Given the description of an element on the screen output the (x, y) to click on. 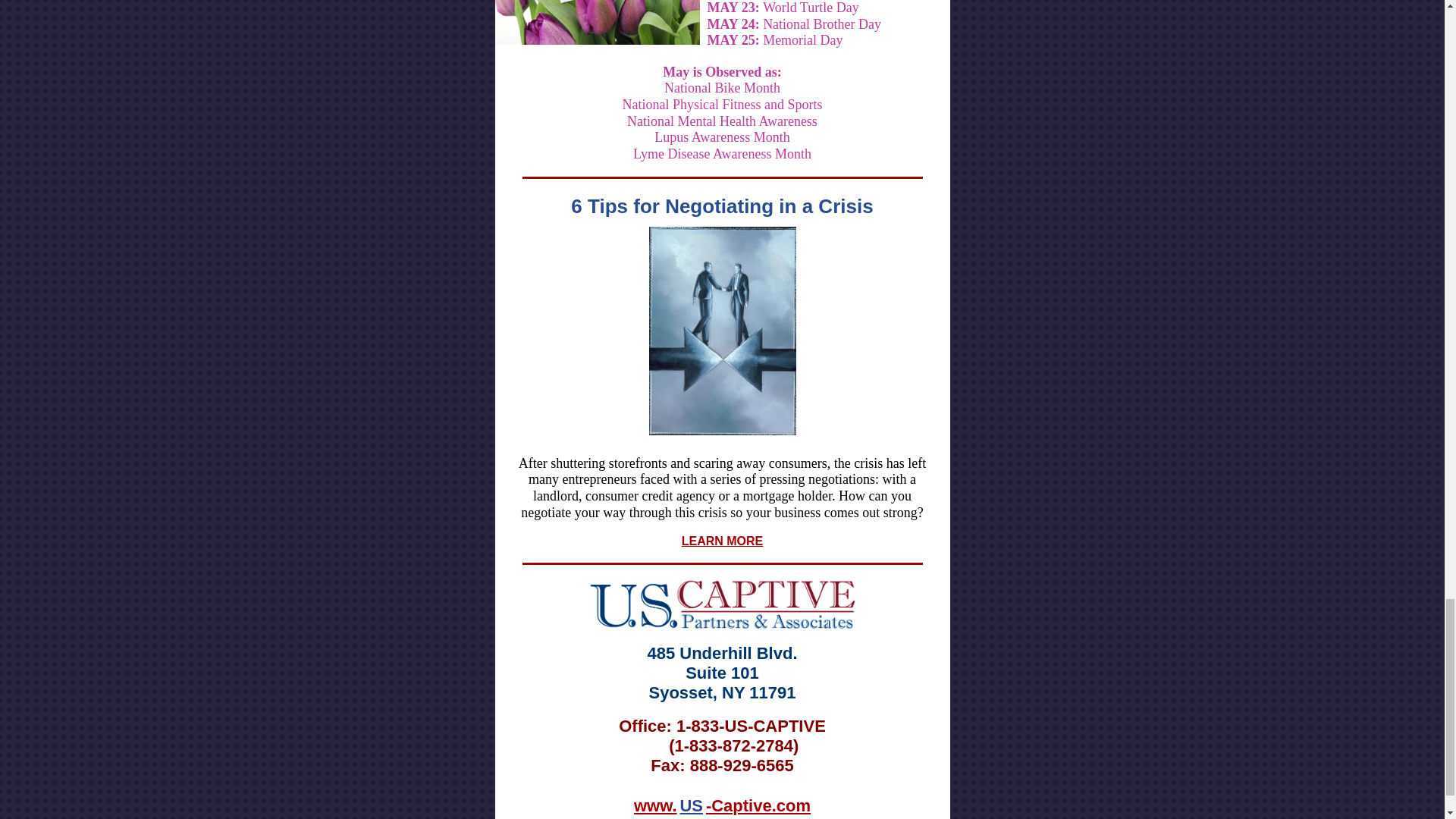
LEARN MORE (721, 540)
US (691, 805)
www. (655, 805)
-Captive.com (758, 805)
